Given the description of an element on the screen output the (x, y) to click on. 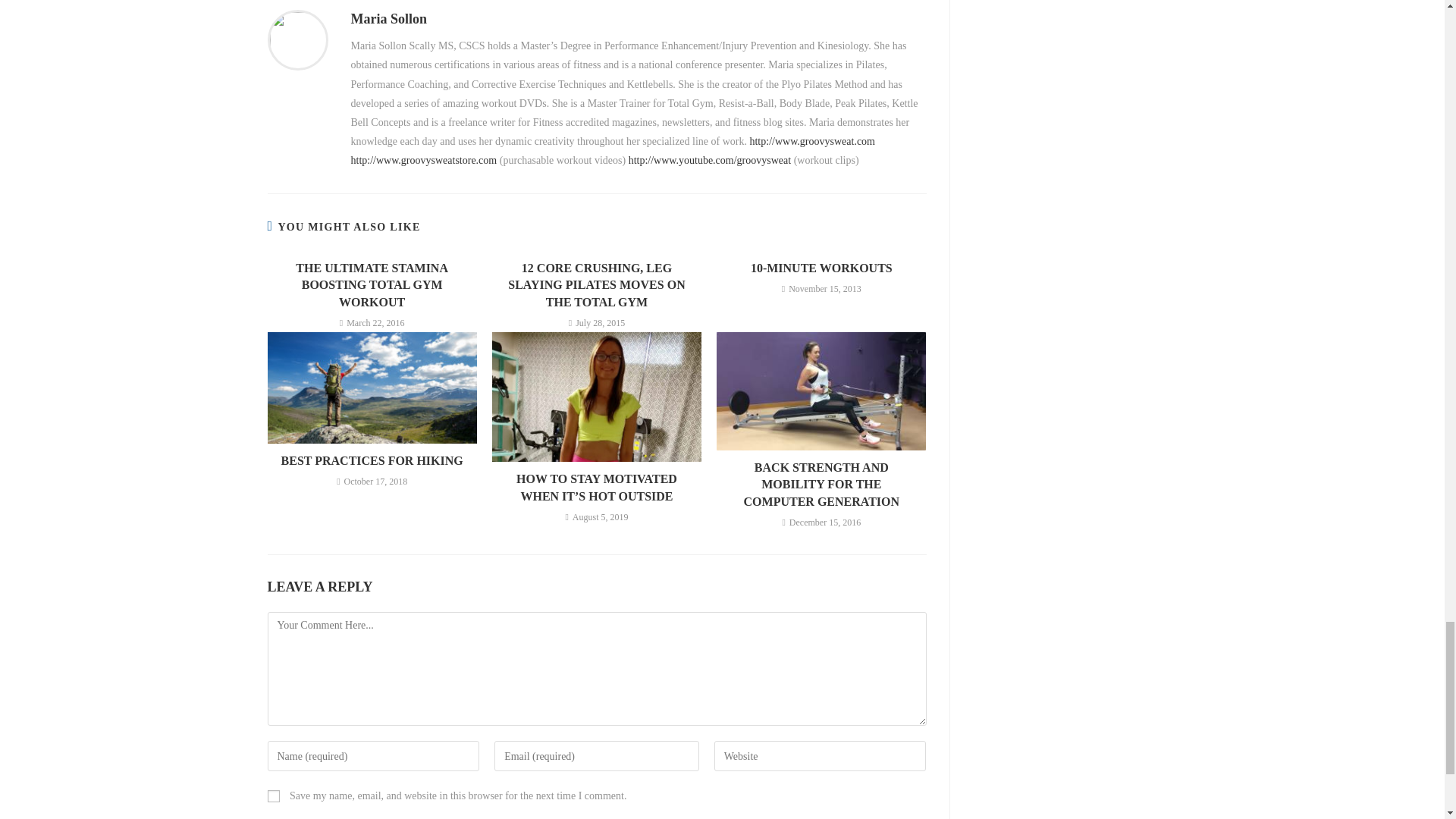
Visit Author Page (296, 39)
Back Strength and Mobility for the Computer Generation (821, 484)
Best Practices for Hiking (371, 460)
10-Minute Workouts (821, 268)
12 CORE CRUSHING, LEG SLAYING PILATES MOVES ON THE TOTAL GYM (596, 285)
BACK STRENGTH AND MOBILITY FOR THE COMPUTER GENERATION (821, 484)
The Ultimate Stamina Boosting Total Gym Workout (371, 285)
yes (272, 796)
10-MINUTE WORKOUTS (821, 268)
BEST PRACTICES FOR HIKING (371, 460)
Maria Sollon (388, 18)
Visit Author Page (388, 18)
THE ULTIMATE STAMINA BOOSTING TOTAL GYM WORKOUT (371, 285)
12 Core Crushing, Leg Slaying Pilates Moves on the Total Gym (596, 285)
